Given the description of an element on the screen output the (x, y) to click on. 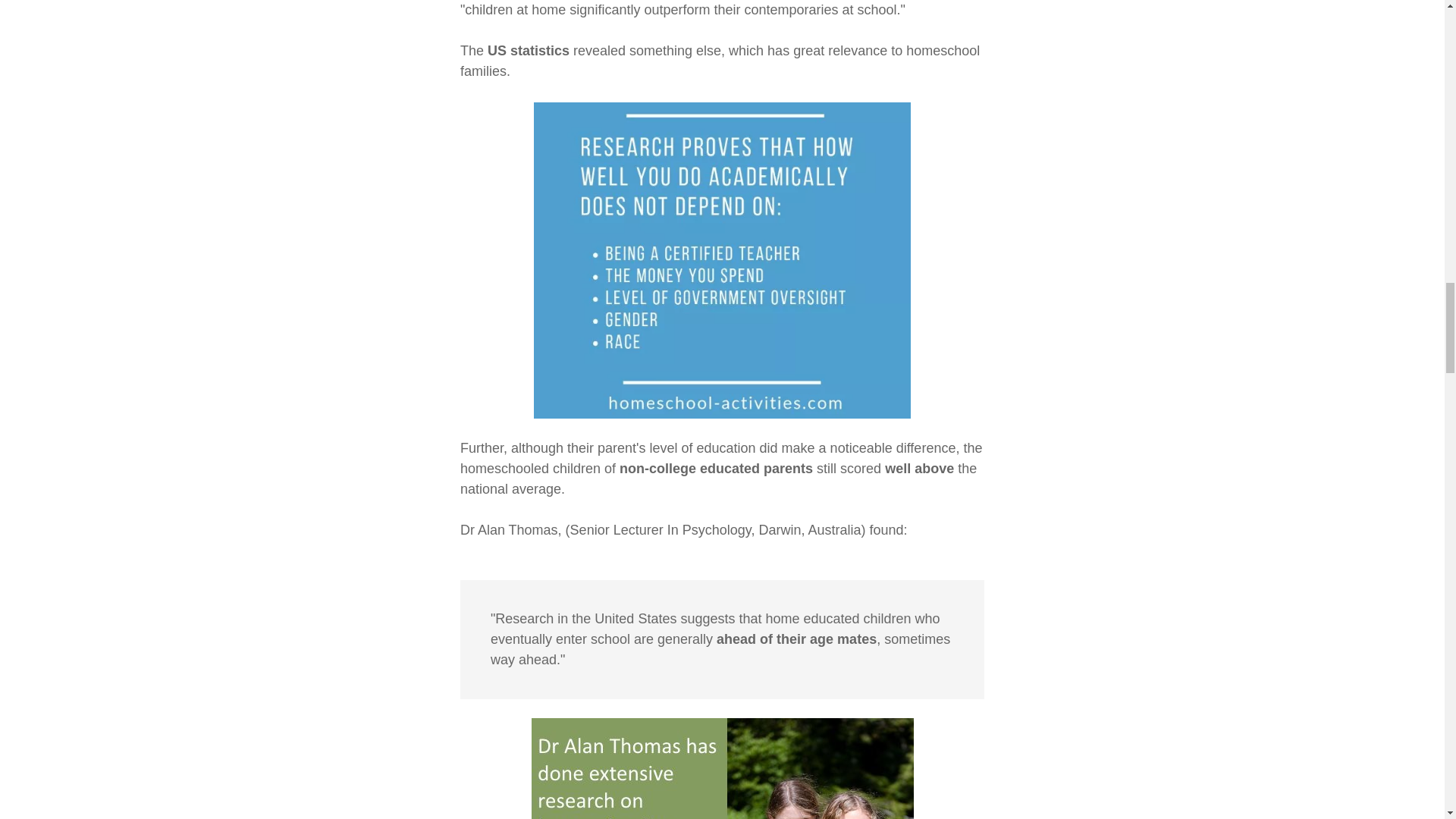
Homeschool research (722, 260)
Dr Alan Thomas home education research (721, 768)
